Given the description of an element on the screen output the (x, y) to click on. 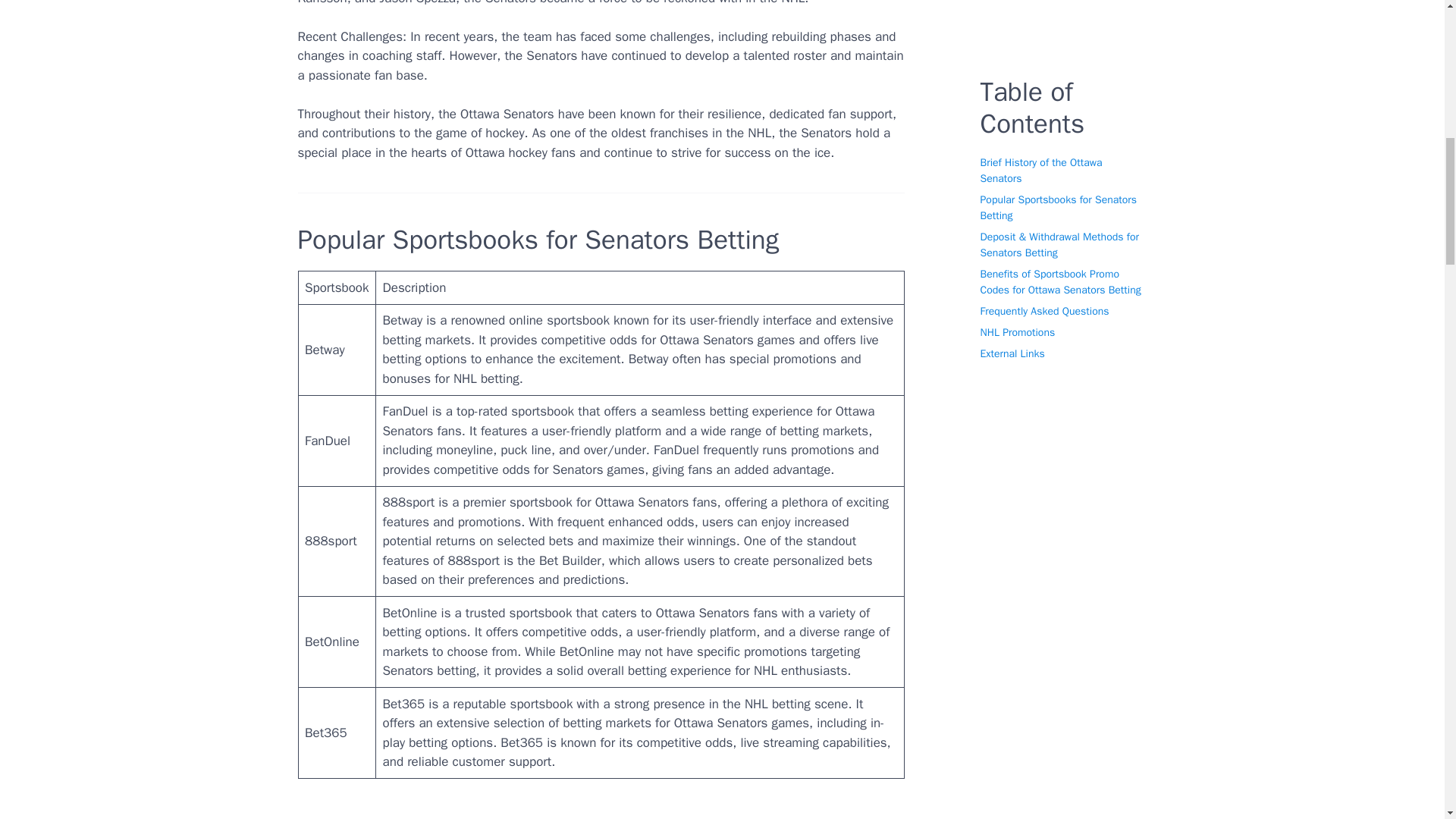
Scroll back to top (1406, 720)
